Given the description of an element on the screen output the (x, y) to click on. 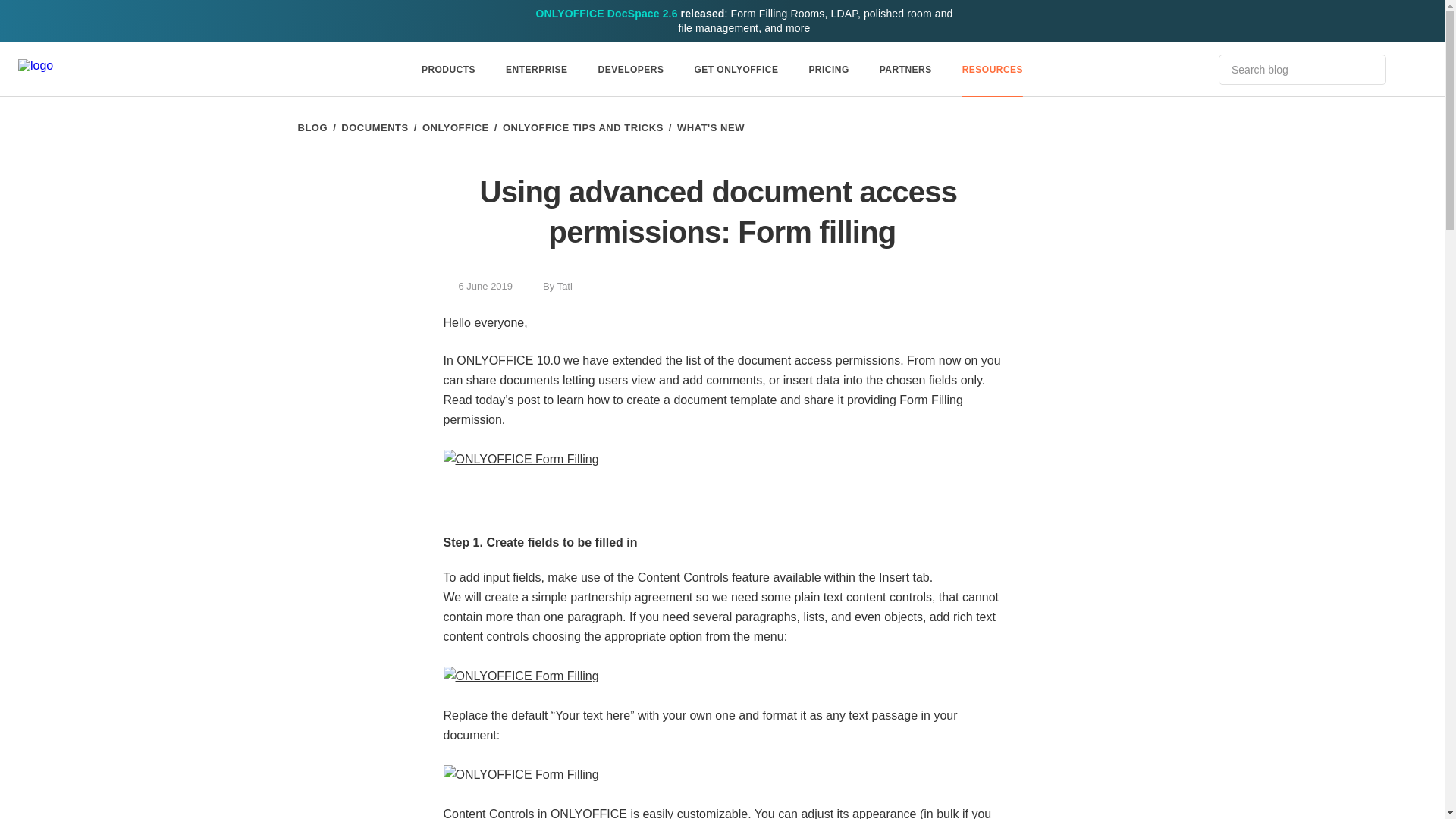
By Tati (549, 286)
ONLYOFFICE TIPS AND TRICKS (582, 127)
ONLYOFFICE (455, 127)
DEVELOPERS (631, 69)
GET ONLYOFFICE (735, 69)
Mastodon (991, 285)
ENTERPRISE (536, 69)
PRICING (828, 69)
BLOG (312, 127)
RESOURCES (992, 69)
